Given the description of an element on the screen output the (x, y) to click on. 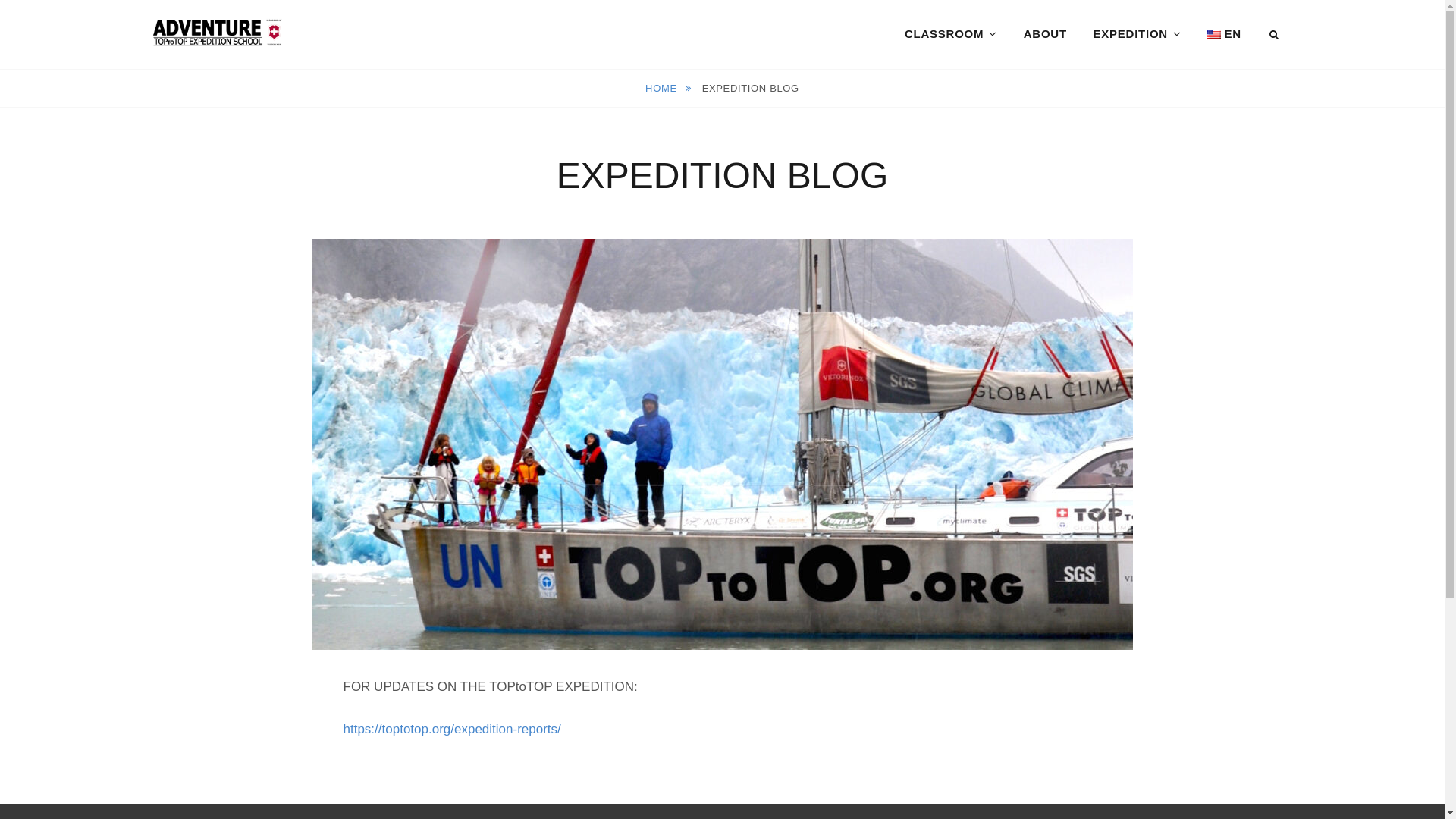
EXPEDITION Element type: text (1137, 33)
ABOUT Element type: text (1045, 33)
SEARCH Element type: text (1274, 34)
EN Element type: text (1223, 33)
EXPLORATION-BASED LEARNING COMMUNITY Element type: text (391, 65)
https://toptotop.org/expedition-reports/ Element type: text (451, 728)
Skip to content Element type: text (0, 0)
CLASSROOM Element type: text (950, 33)
HOME Element type: text (668, 87)
